Given the description of an element on the screen output the (x, y) to click on. 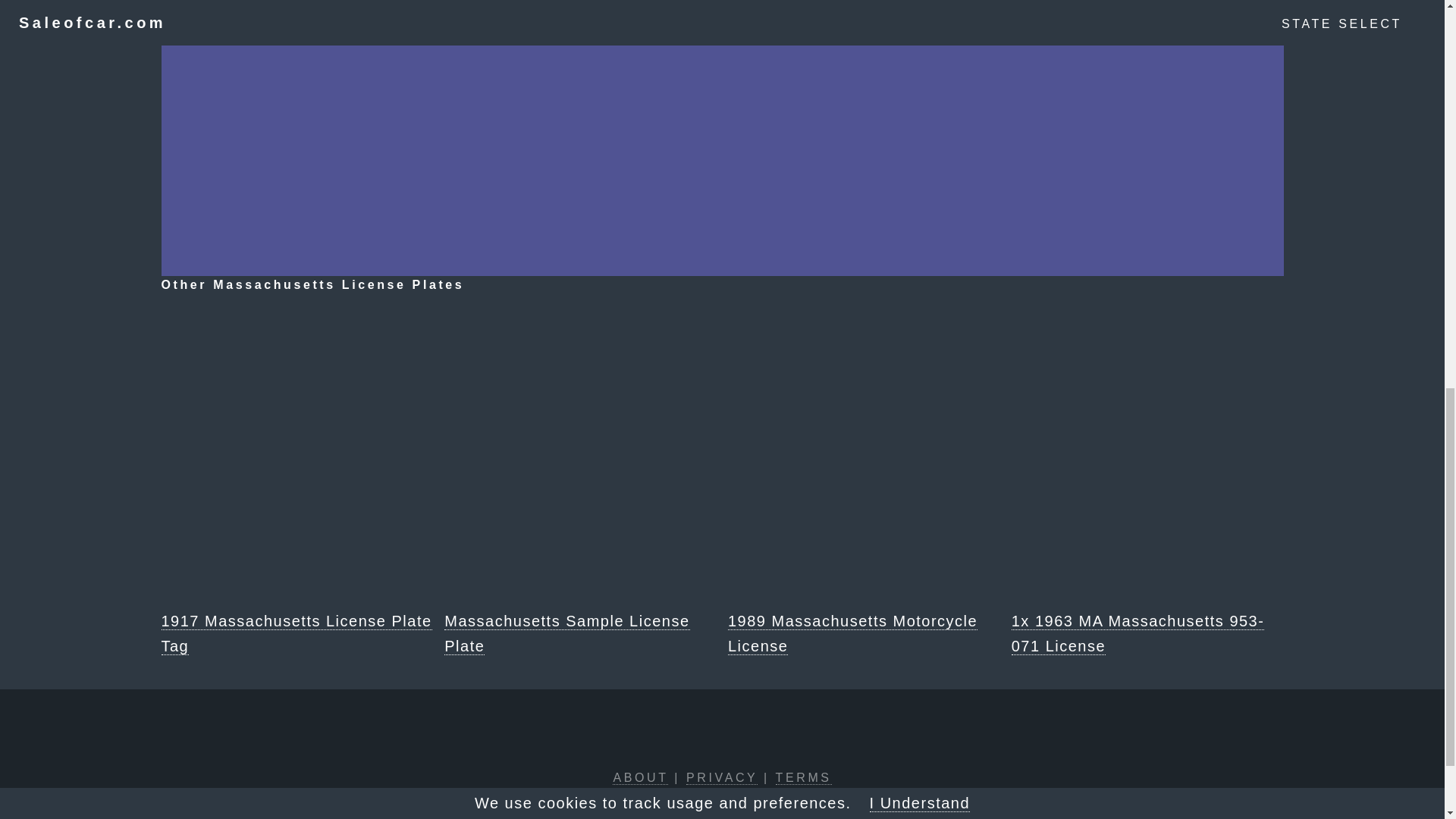
TERMS (803, 777)
ABOUT (640, 777)
PRIVACY (721, 777)
